Given the description of an element on the screen output the (x, y) to click on. 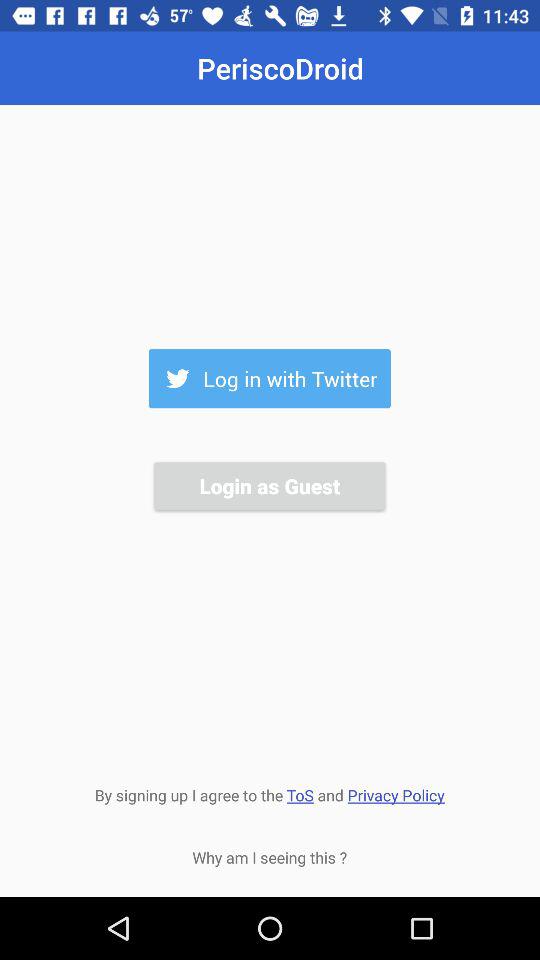
click the by signing up icon (269, 793)
